Given the description of an element on the screen output the (x, y) to click on. 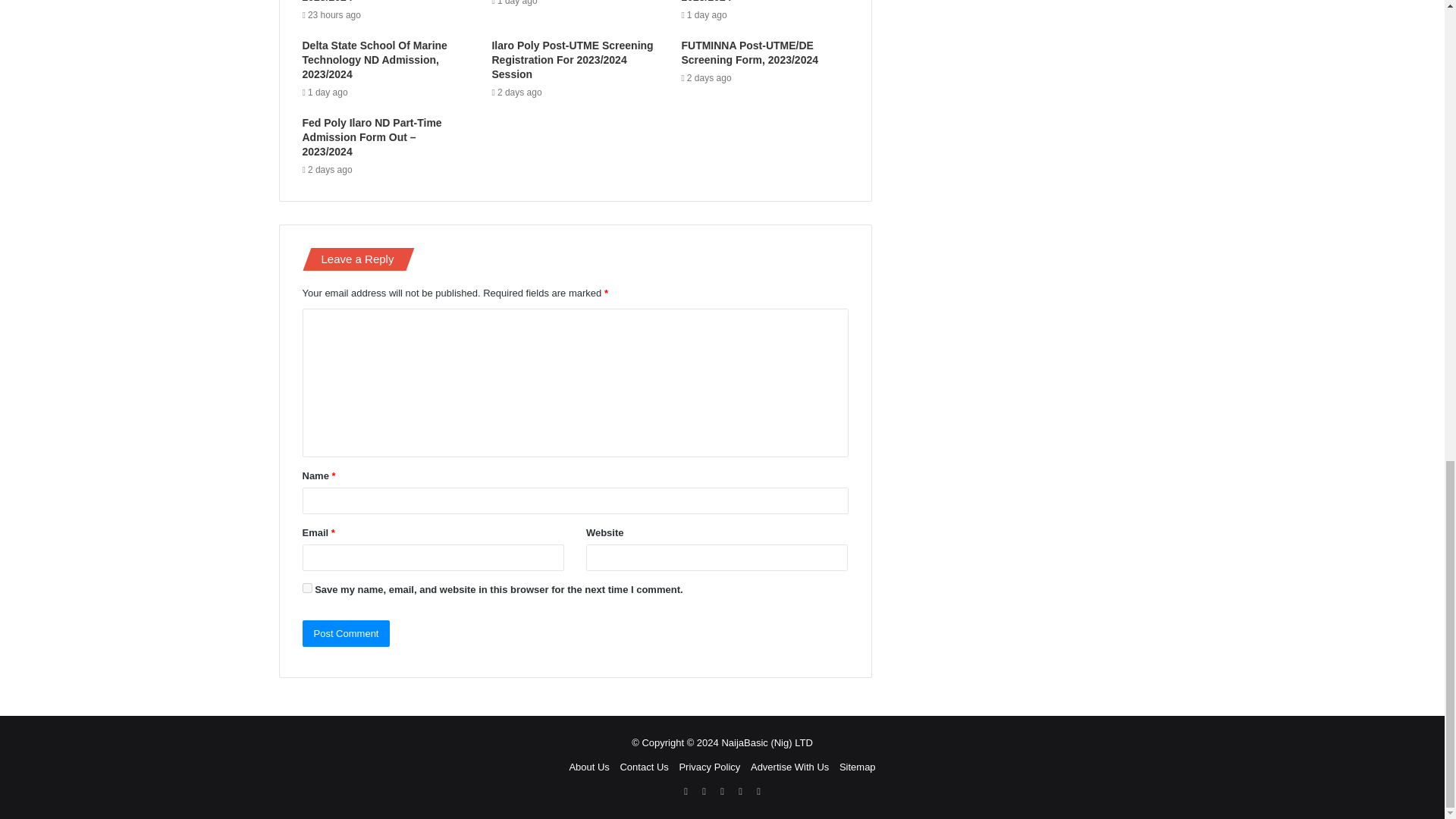
Post Comment (345, 633)
yes (306, 587)
